Given the description of an element on the screen output the (x, y) to click on. 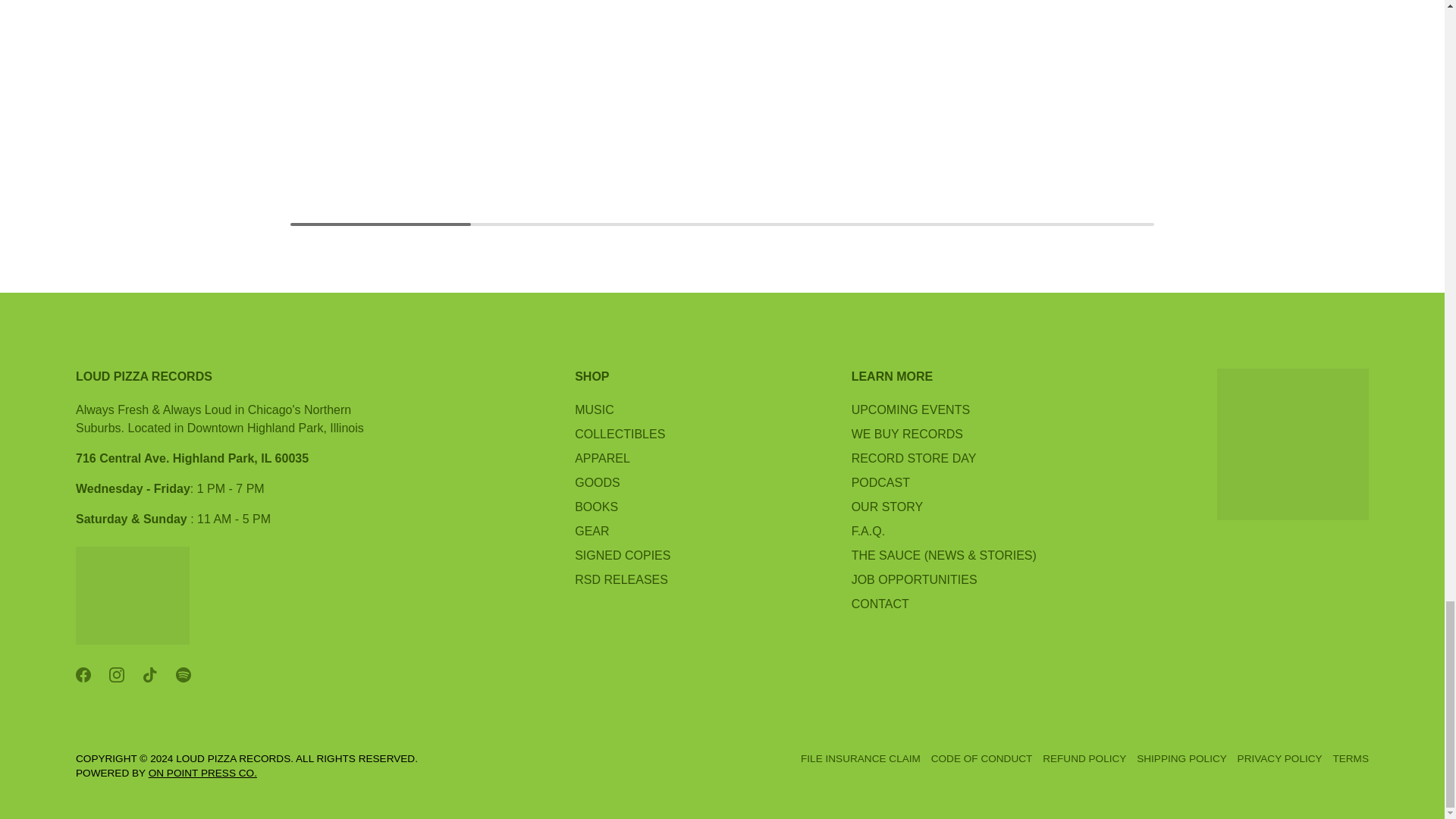
Instagram (116, 674)
